Given the description of an element on the screen output the (x, y) to click on. 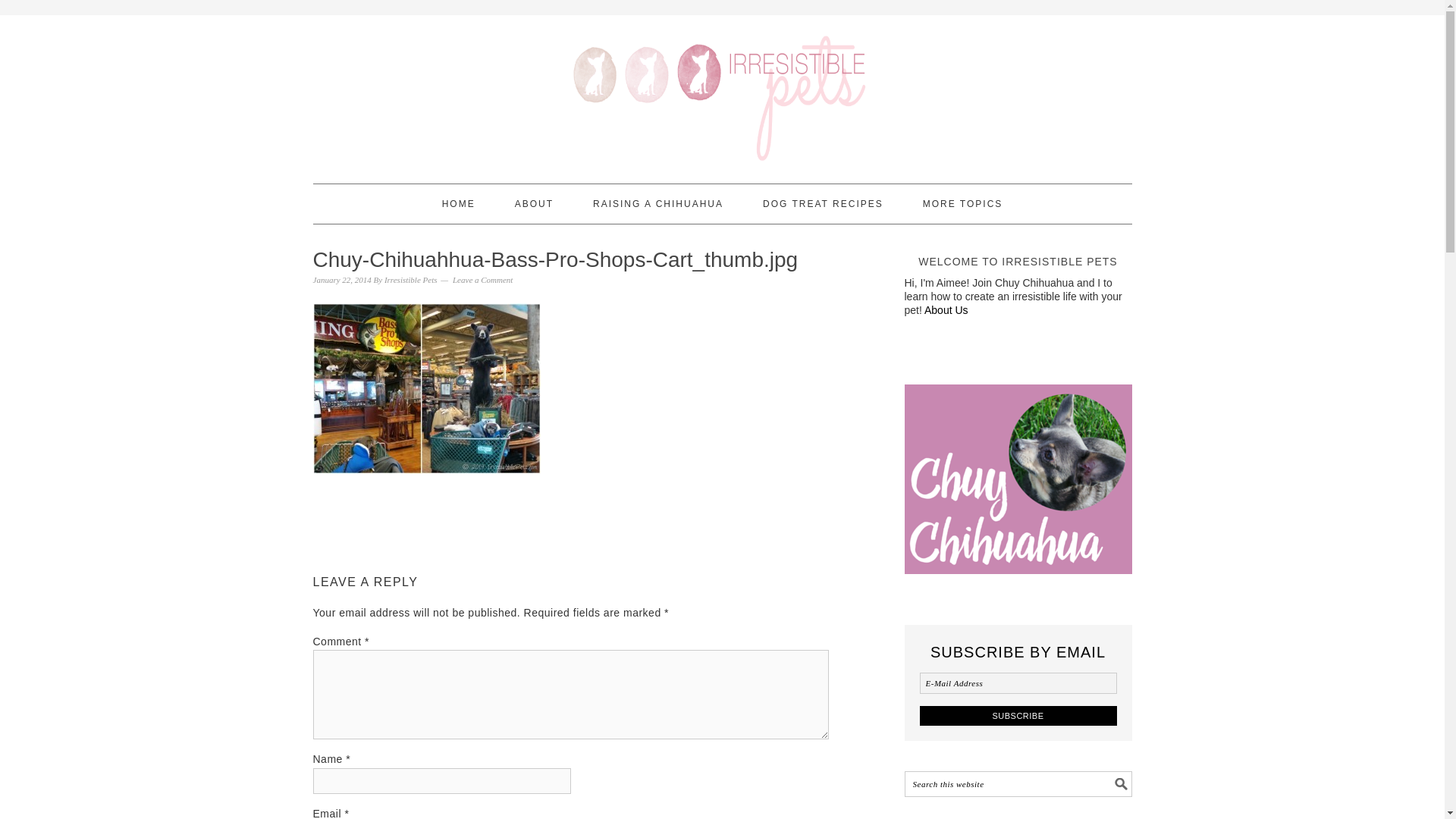
IRRESISTIBLE PETS (722, 92)
DOG TREAT RECIPES (823, 203)
RAISING A CHIHUAHUA (657, 203)
Irresistible Pets (411, 279)
About Us (946, 309)
Subscribe (1017, 714)
ABOUT (534, 203)
MORE TOPICS (963, 203)
Subscribe (1017, 714)
